Given the description of an element on the screen output the (x, y) to click on. 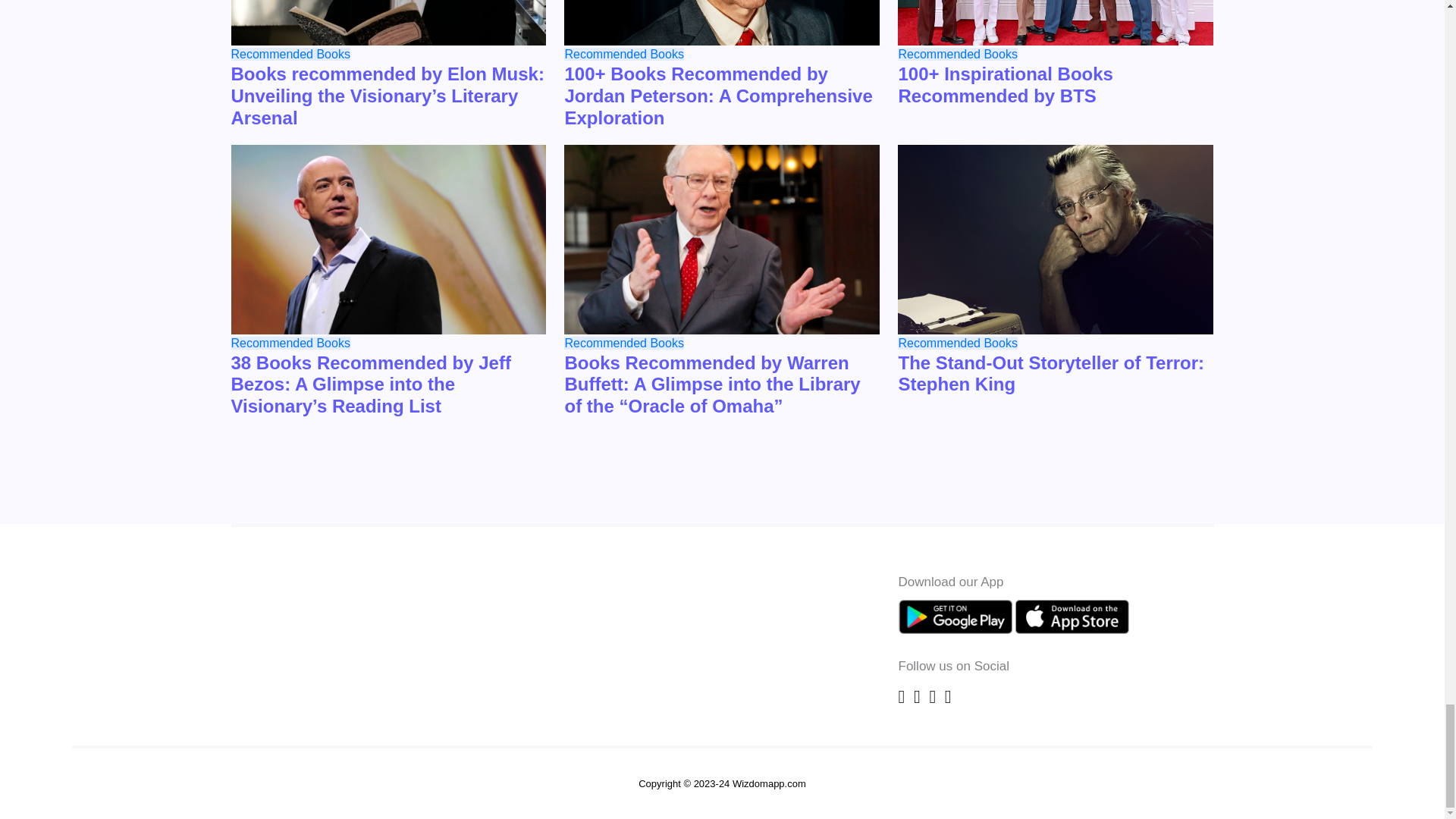
Medium (919, 696)
LinkedIn (948, 696)
Facebook (903, 696)
Instagram (934, 696)
